Given the description of an element on the screen output the (x, y) to click on. 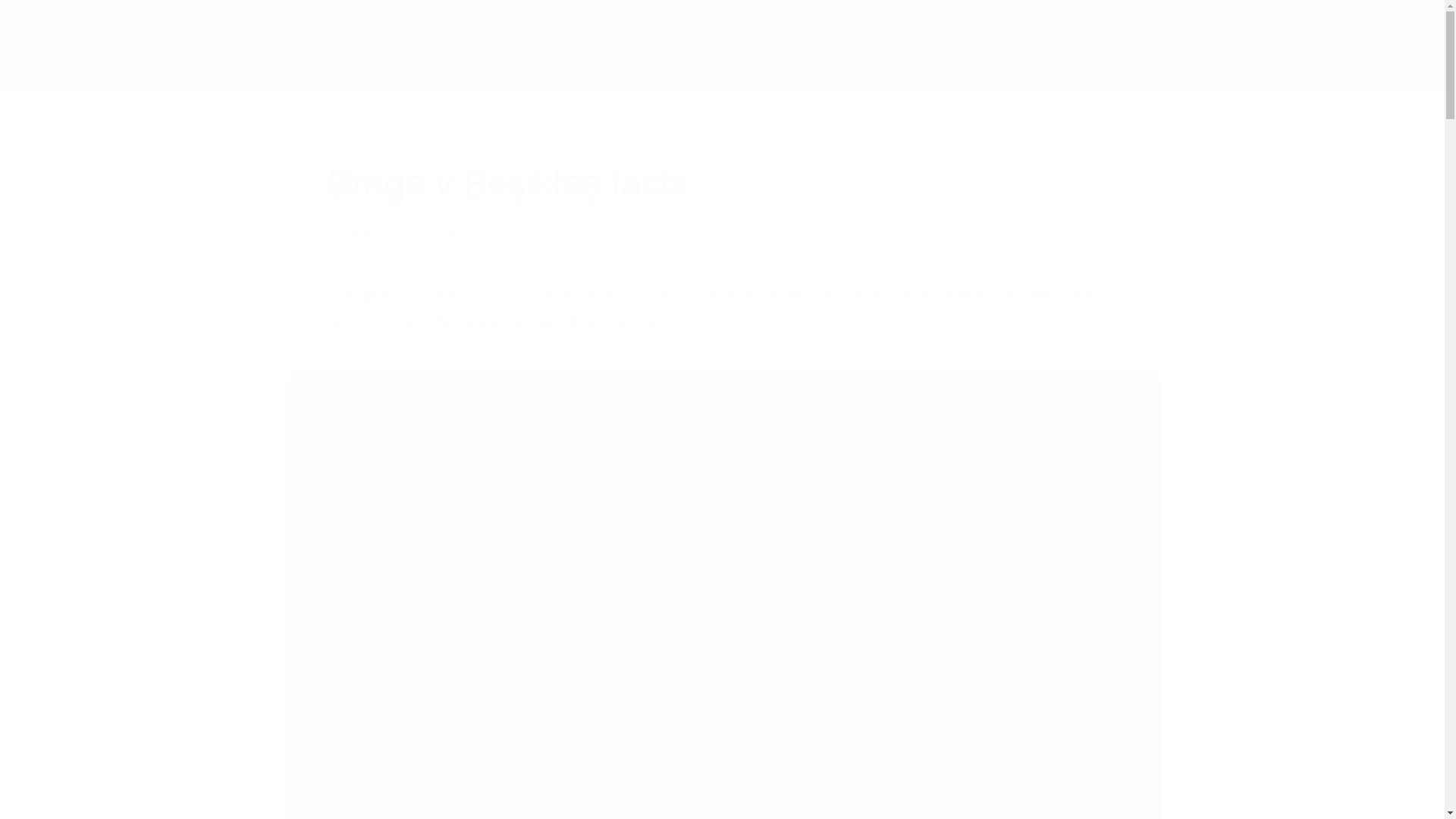
UEFA Europa League (227, 60)
UEFA Europa League (227, 60)
